Given the description of an element on the screen output the (x, y) to click on. 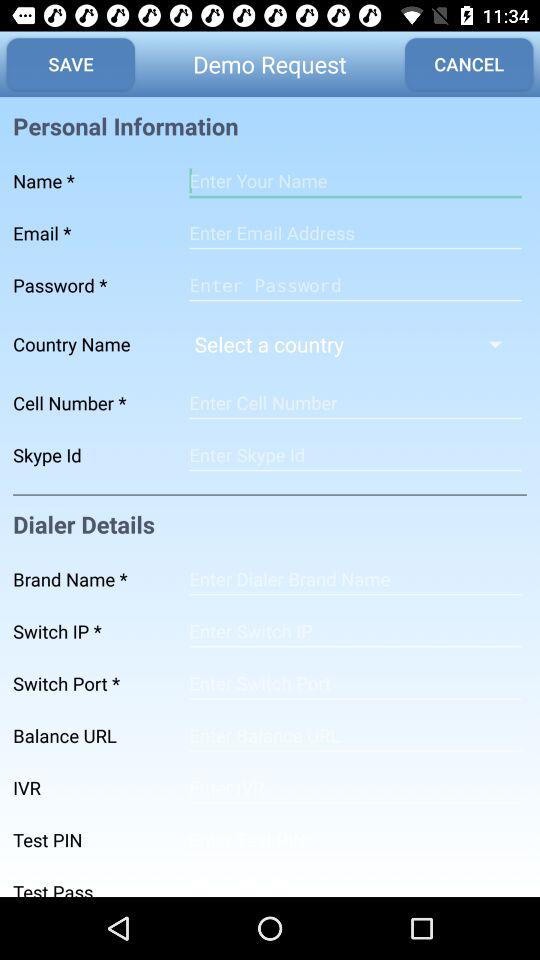
ivr (355, 788)
